Given the description of an element on the screen output the (x, y) to click on. 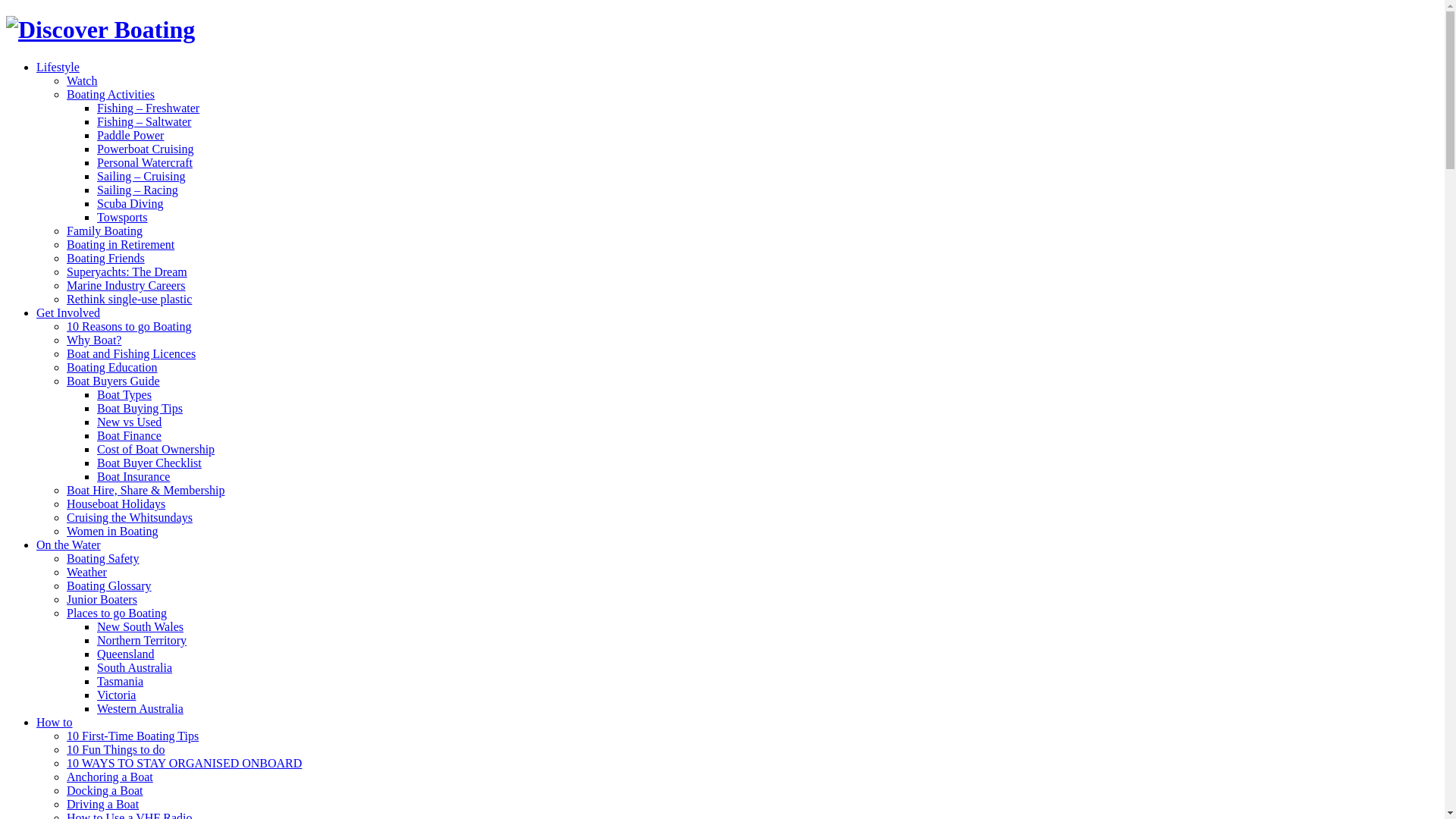
New vs Used Element type: text (129, 421)
On the Water Element type: text (68, 544)
Boat Types Element type: text (124, 394)
New South Wales Element type: text (140, 626)
Get Involved Element type: text (68, 312)
10 WAYS TO STAY ORGANISED ONBOARD Element type: text (183, 762)
Northern Territory Element type: text (141, 639)
Boat Buyers Guide Element type: text (113, 380)
10 First-Time Boating Tips Element type: text (132, 735)
Boat Buyer Checklist Element type: text (149, 462)
Boating Friends Element type: text (105, 257)
Boat and Fishing Licences Element type: text (130, 353)
How to Element type: text (54, 721)
Boat Hire, Share & Membership Element type: text (145, 489)
10 Fun Things to do Element type: text (115, 749)
Junior Boaters Element type: text (101, 599)
Why Boat? Element type: text (93, 339)
Queensland Element type: text (125, 653)
Family Boating Element type: text (104, 230)
Paddle Power Element type: text (130, 134)
Watch Element type: text (81, 80)
Victoria Element type: text (116, 694)
Western Australia Element type: text (140, 708)
Docking a Boat Element type: text (104, 790)
Cruising the Whitsundays Element type: text (129, 517)
Driving a Boat Element type: text (102, 803)
Towsports Element type: text (122, 216)
Boating Education Element type: text (111, 366)
Personal Watercraft Element type: text (144, 162)
Boat Finance Element type: text (129, 435)
Boating Glossary Element type: text (108, 585)
Anchoring a Boat Element type: text (109, 776)
10 Reasons to go Boating Element type: text (128, 326)
Scuba Diving Element type: text (130, 203)
Cost of Boat Ownership Element type: text (155, 448)
Rethink single-use plastic Element type: text (128, 298)
Powerboat Cruising Element type: text (145, 148)
Superyachts: The Dream Element type: text (126, 271)
Places to go Boating Element type: text (116, 612)
Tasmania Element type: text (120, 680)
Weather Element type: text (86, 571)
Boat Insurance Element type: text (133, 476)
Houseboat Holidays Element type: text (115, 503)
Boating Safety Element type: text (102, 558)
Boating Activities Element type: text (110, 93)
Marine Industry Careers Element type: text (125, 285)
Lifestyle Element type: text (57, 66)
Women in Boating Element type: text (111, 530)
South Australia Element type: text (134, 667)
Boating in Retirement Element type: text (120, 244)
Boat Buying Tips Element type: text (139, 407)
